Given the description of an element on the screen output the (x, y) to click on. 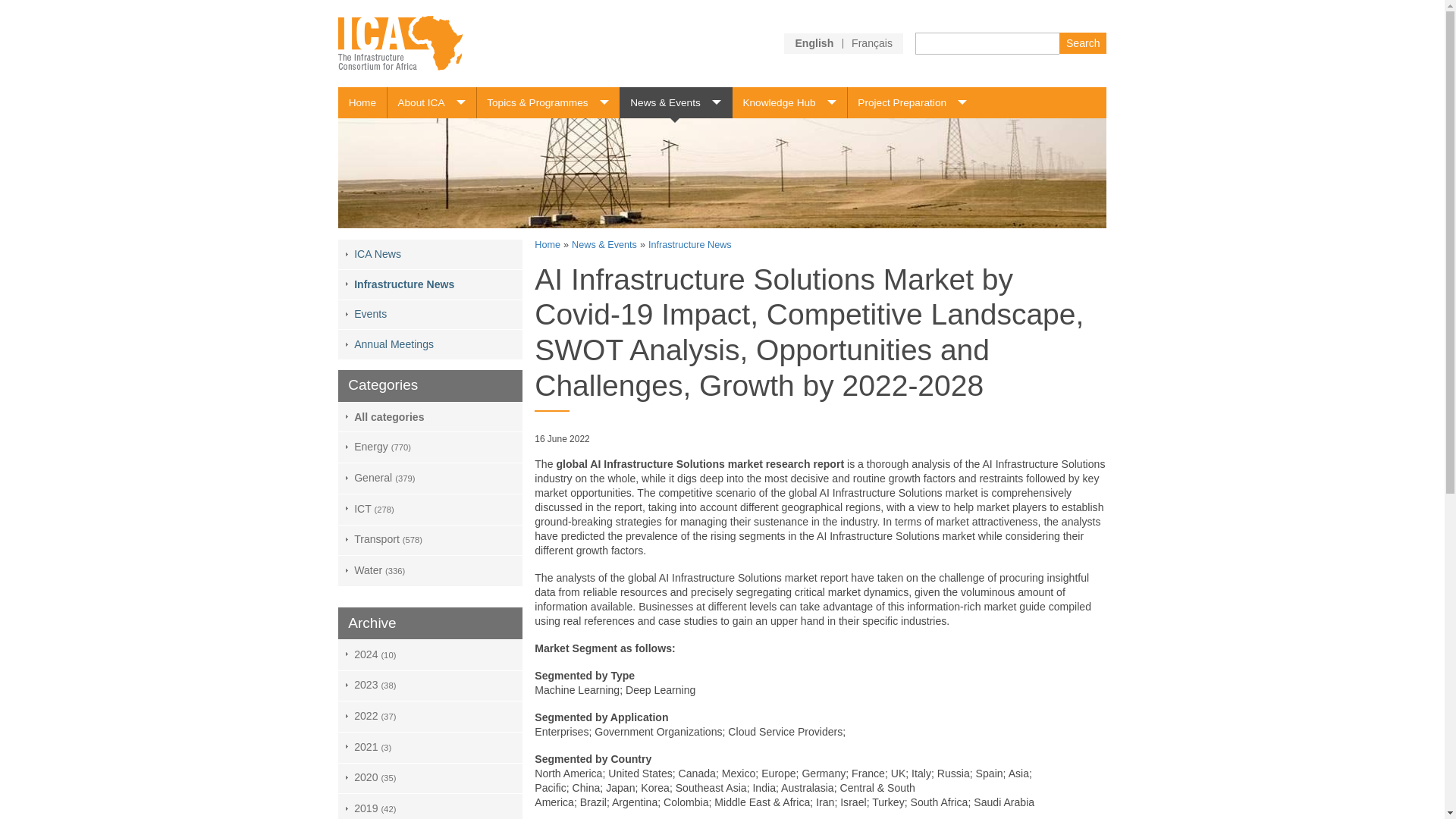
English (813, 43)
About ICA (431, 101)
About ICA (431, 101)
ICA - The Infrastructure Consortium for Africa (400, 43)
Search (1082, 42)
Article (813, 43)
Search (1082, 42)
Article (871, 43)
Home (362, 101)
Home (362, 101)
